Given the description of an element on the screen output the (x, y) to click on. 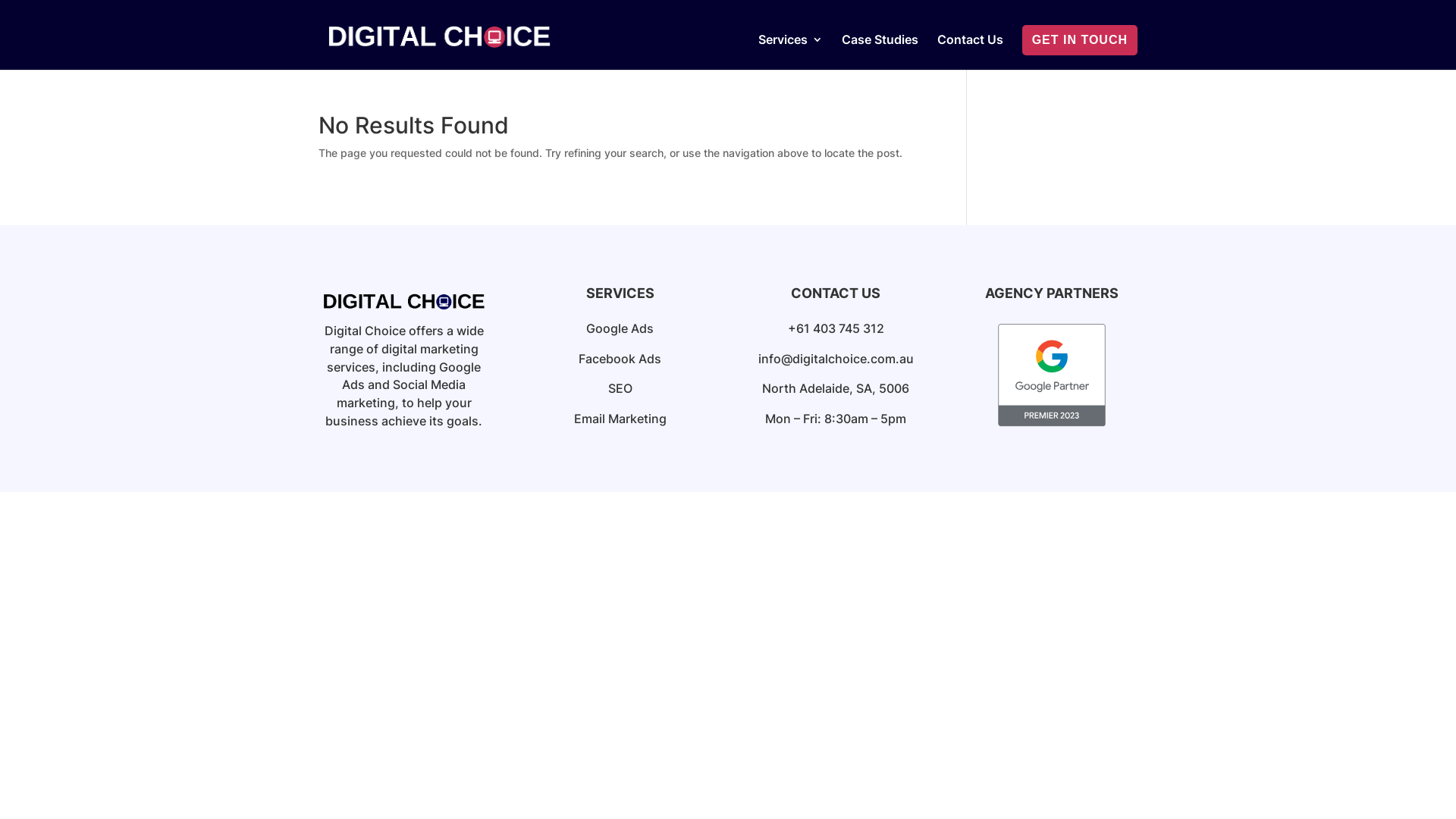
GET IN TOUCH Element type: text (1079, 40)
Case Studies Element type: text (879, 51)
Services Element type: text (790, 51)
Facebook Ads Element type: text (619, 358)
Google Ads Element type: text (619, 327)
Contact Us Element type: text (970, 51)
Digital Choice Element type: hover (403, 299)
